Given the description of an element on the screen output the (x, y) to click on. 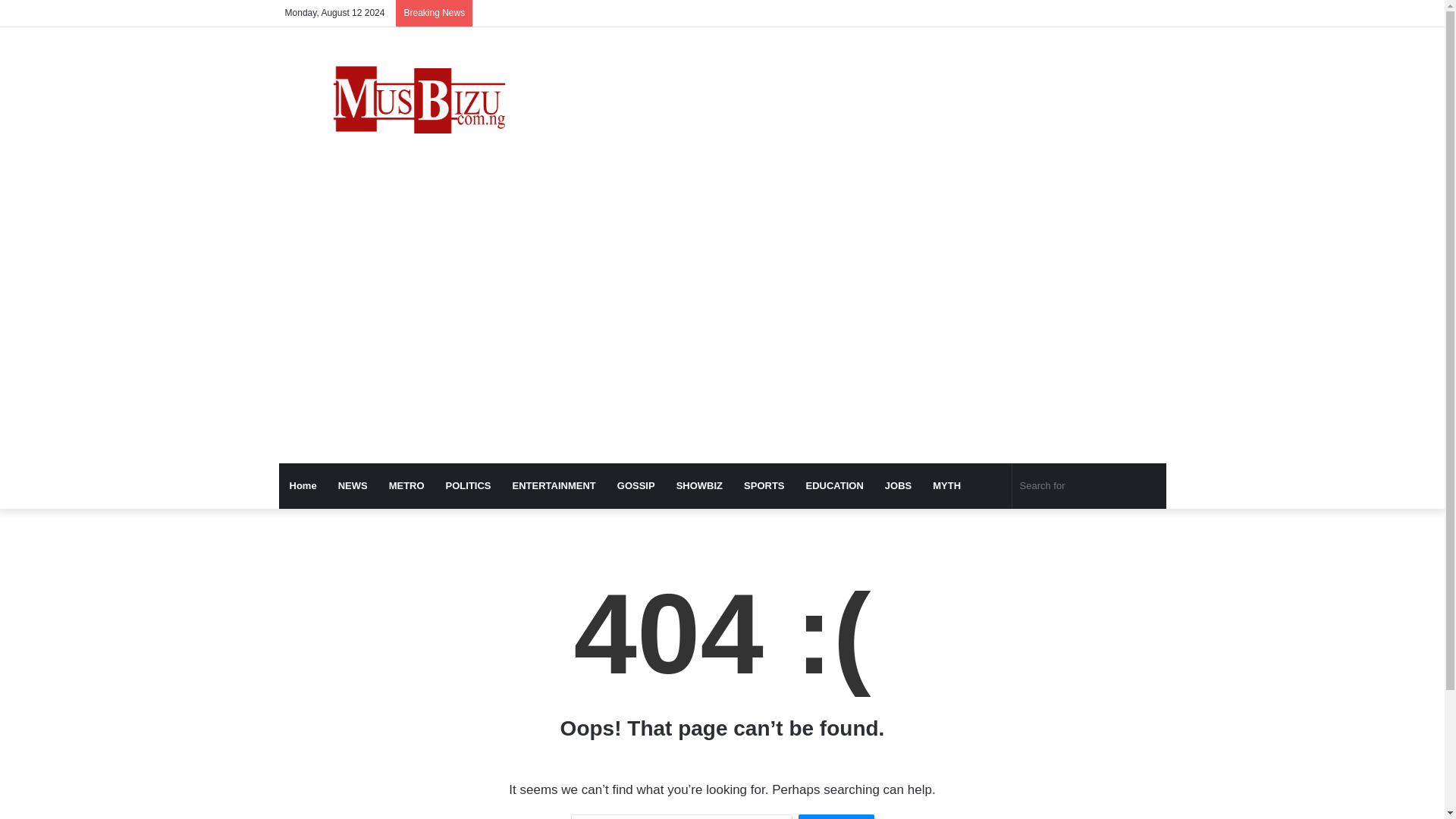
GOSSIP (636, 485)
ENTERTAINMENT (554, 485)
Search (835, 816)
JOBS (898, 485)
EDUCATION (834, 485)
METRO (406, 485)
NEWS (352, 485)
MYTH (946, 485)
Search (835, 816)
